Given the description of an element on the screen output the (x, y) to click on. 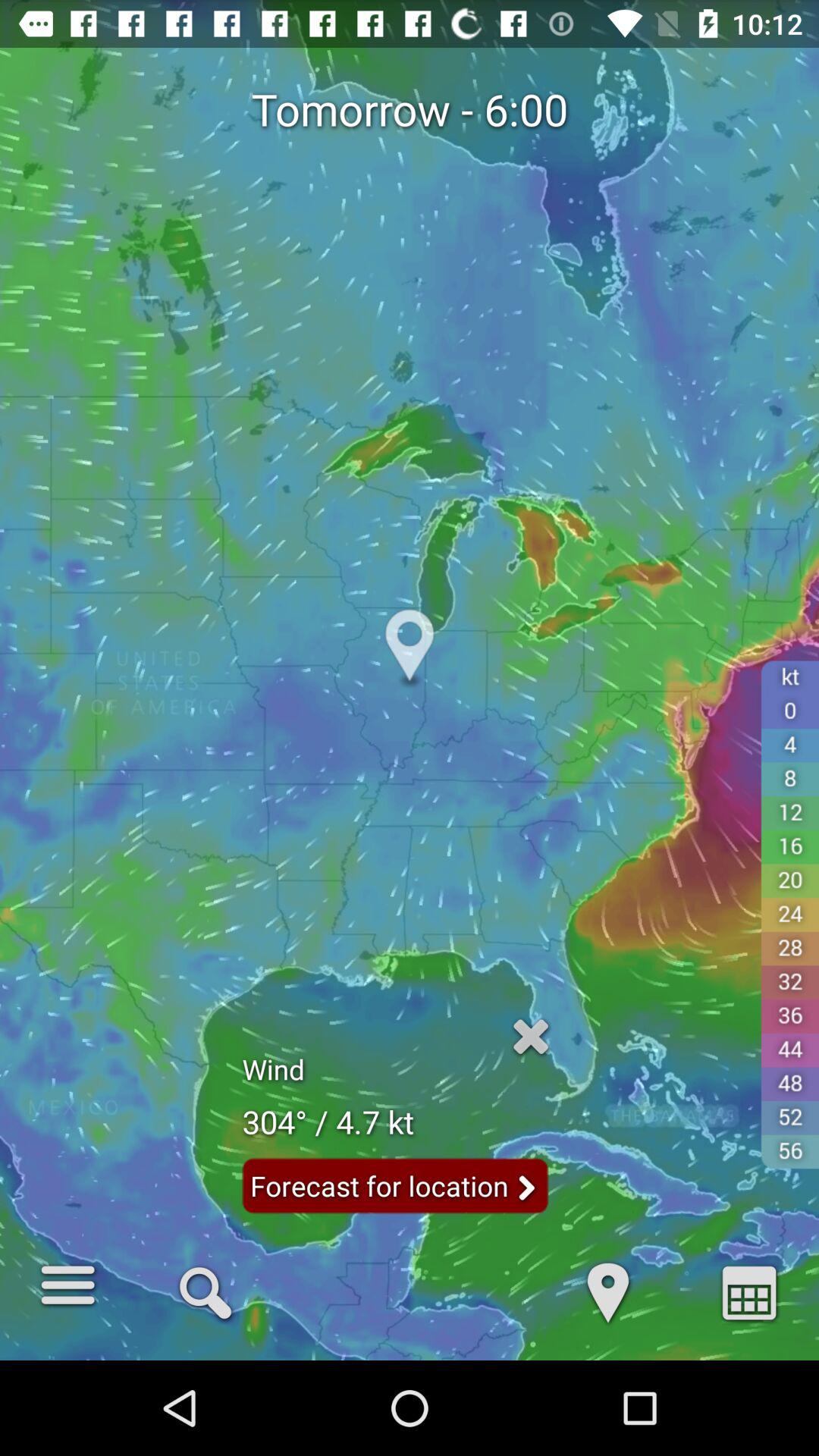
jump until q (205, 1291)
